Given the description of an element on the screen output the (x, y) to click on. 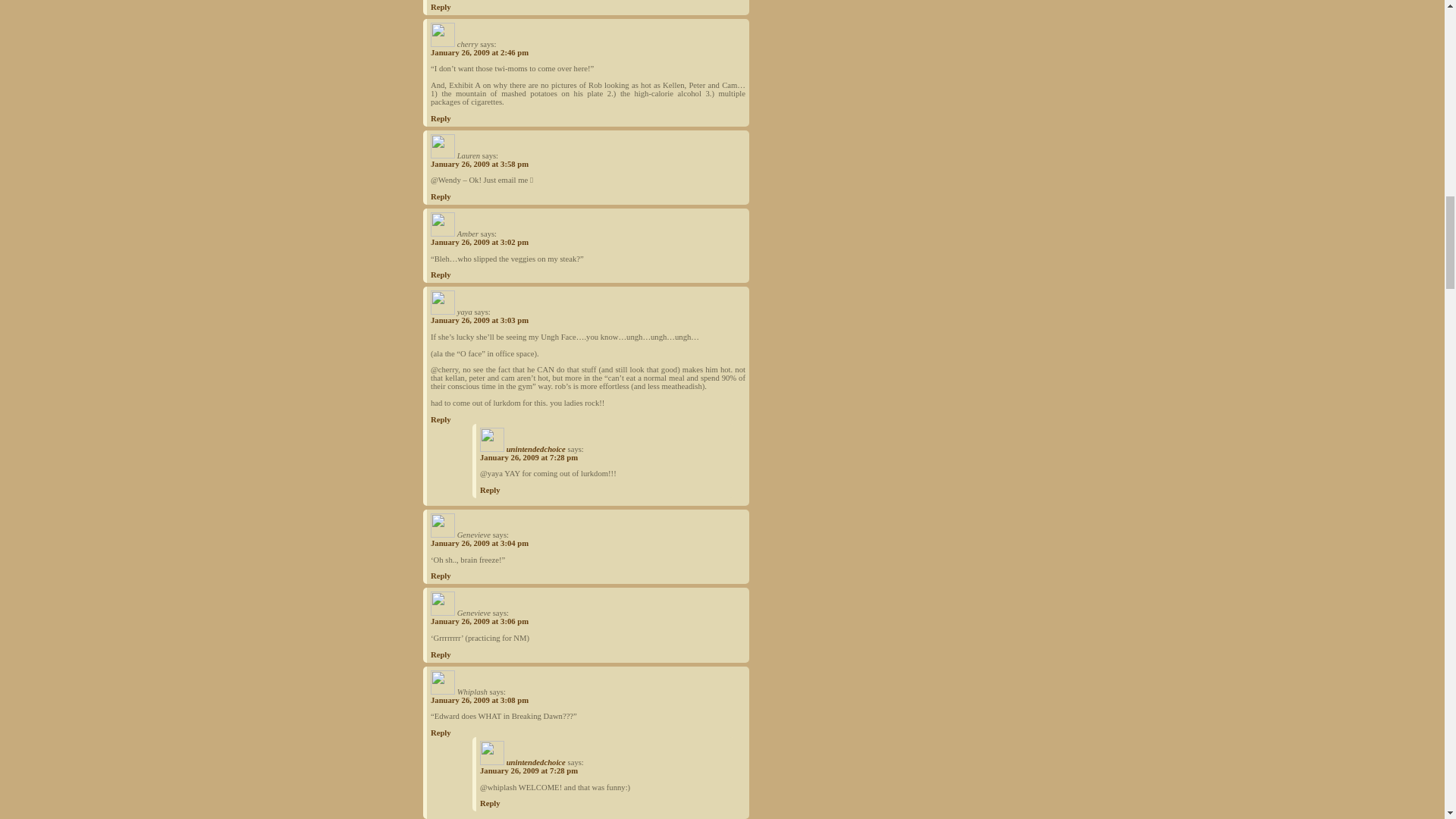
Reply (440, 118)
January 26, 2009 at 3:58 pm (479, 163)
January 26, 2009 at 2:46 pm (479, 52)
Reply (440, 7)
